Given the description of an element on the screen output the (x, y) to click on. 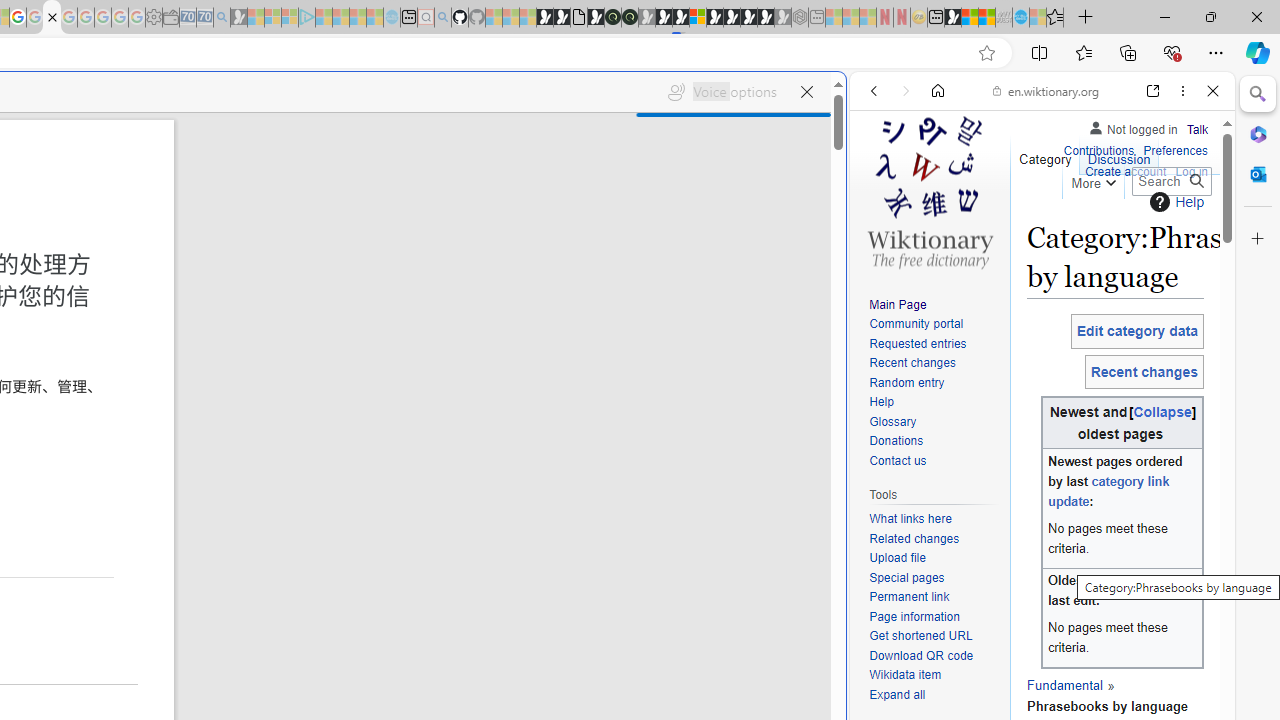
Go (1196, 181)
category link update (1108, 492)
Voice options (721, 92)
